Given the description of an element on the screen output the (x, y) to click on. 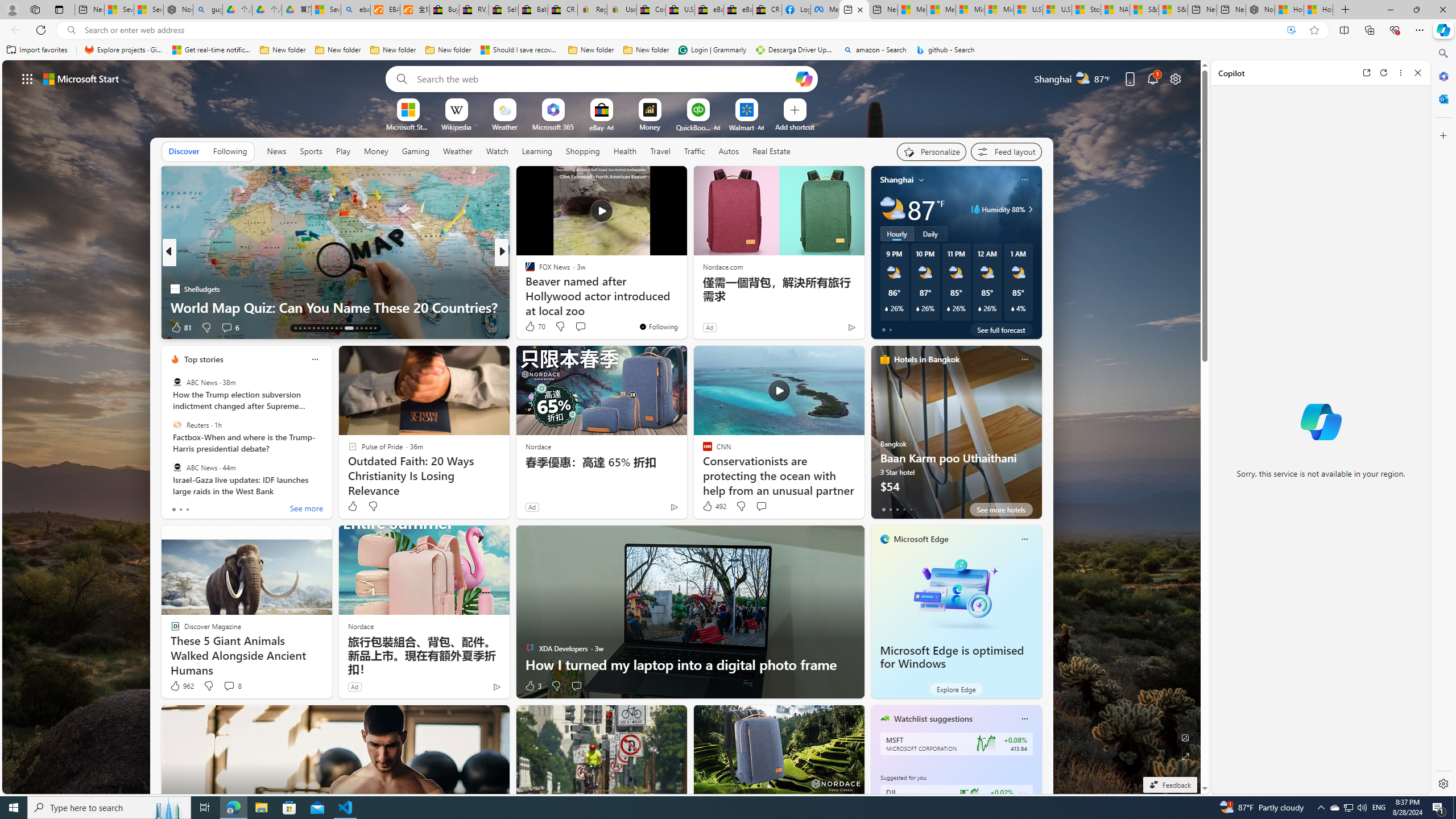
Open Copilot (803, 78)
Log into Facebook (796, 9)
ABC News (176, 466)
Address and search bar (680, 29)
More options (1401, 72)
29 Like (530, 327)
You're following FOX News (657, 326)
Should I save recovered Word documents? - Microsoft Support (519, 49)
Feed settings (1005, 151)
Watchlist suggestions (932, 718)
Daily (929, 233)
Personalize your feed" (931, 151)
Ad (354, 686)
